Given the description of an element on the screen output the (x, y) to click on. 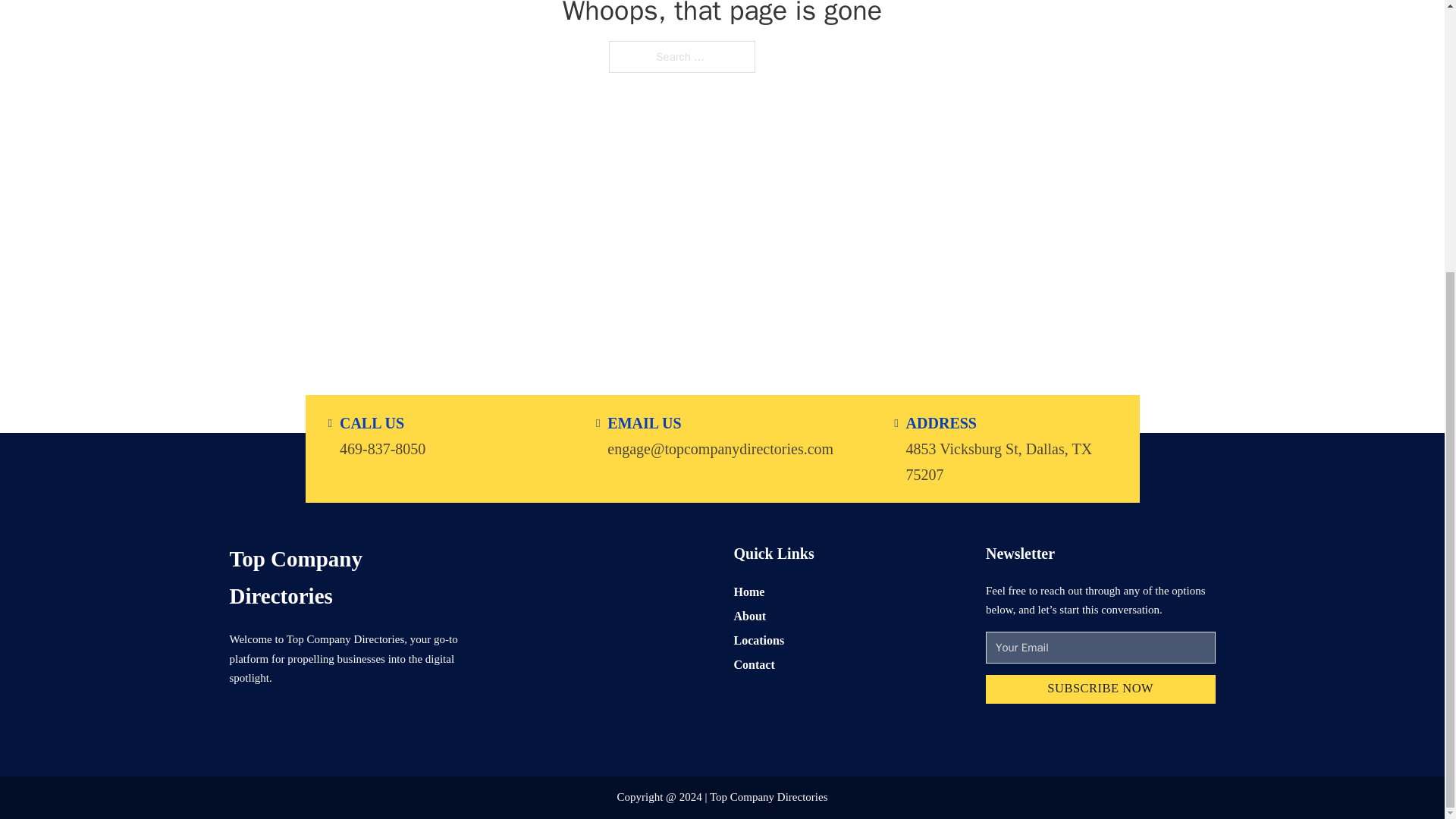
SUBSCRIBE NOW (1100, 689)
Contact (753, 664)
Top Company Directories (343, 577)
Home (749, 590)
469-837-8050 (382, 447)
About (750, 616)
Locations (758, 639)
